Given the description of an element on the screen output the (x, y) to click on. 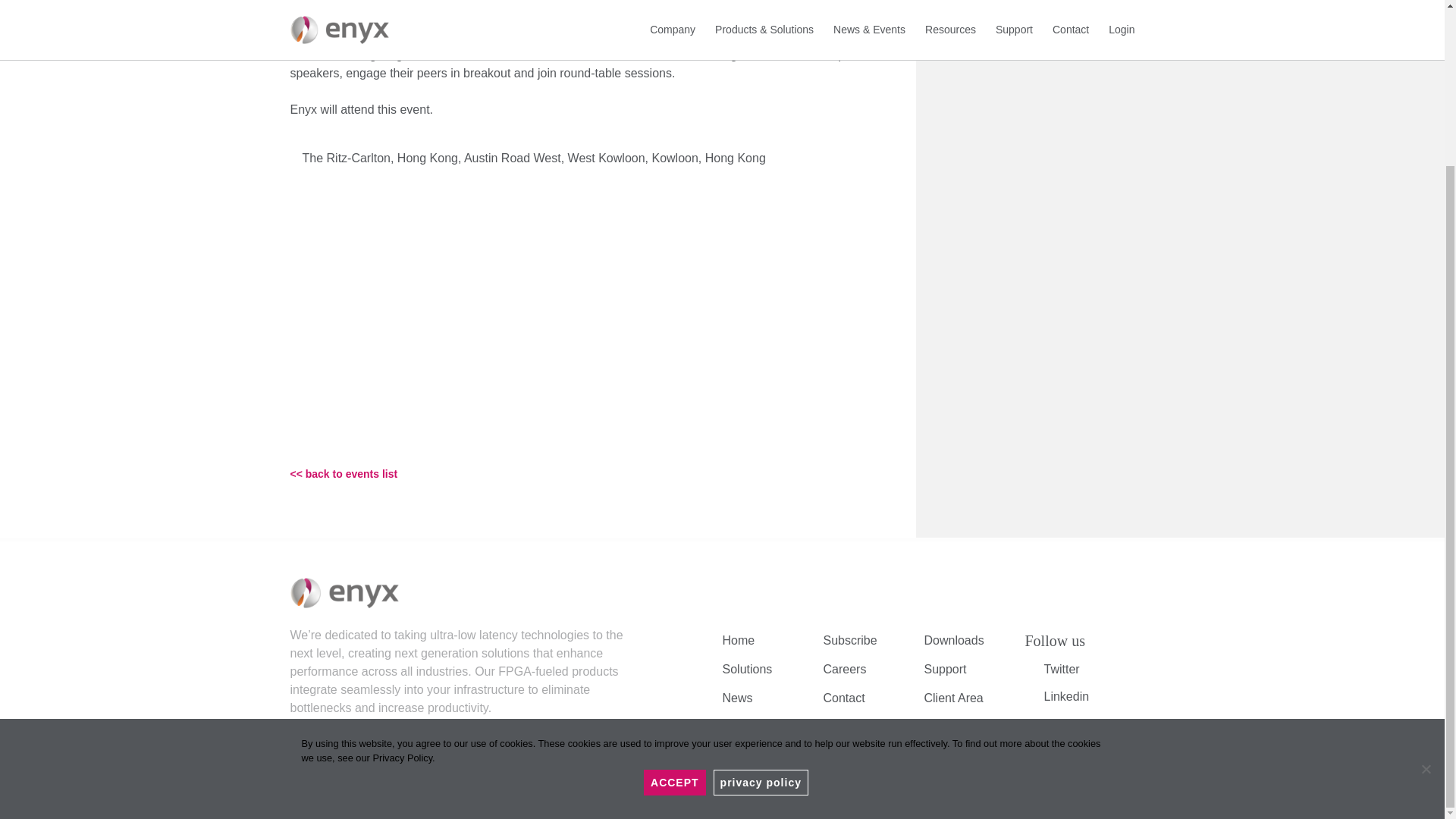
Subscribe (850, 640)
Careers (845, 668)
Contact (844, 697)
SHARE (978, 16)
Solutions (746, 668)
SHARE (978, 2)
News (737, 697)
Home (738, 640)
